Given the description of an element on the screen output the (x, y) to click on. 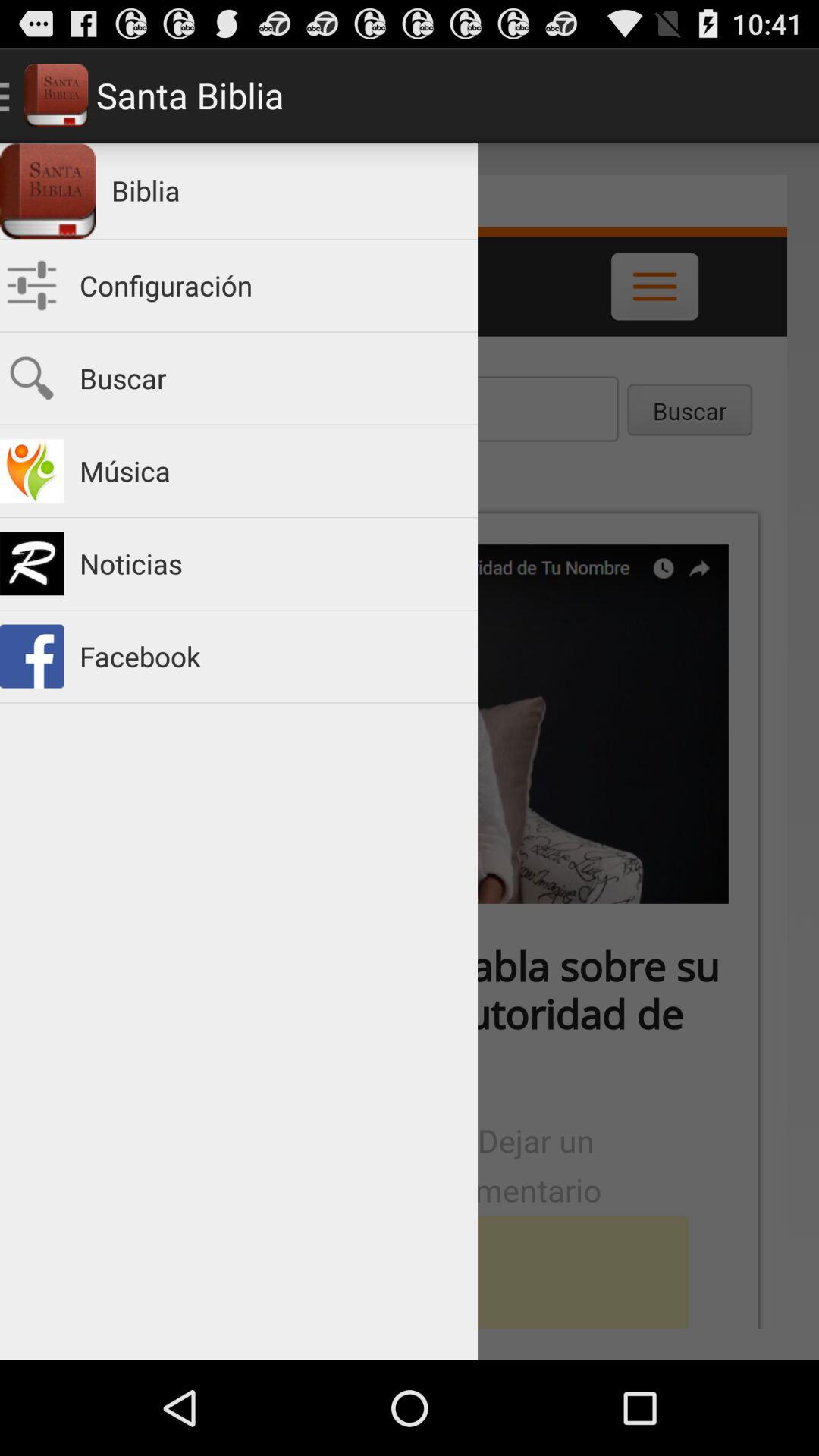
press facebook (270, 656)
